Given the description of an element on the screen output the (x, y) to click on. 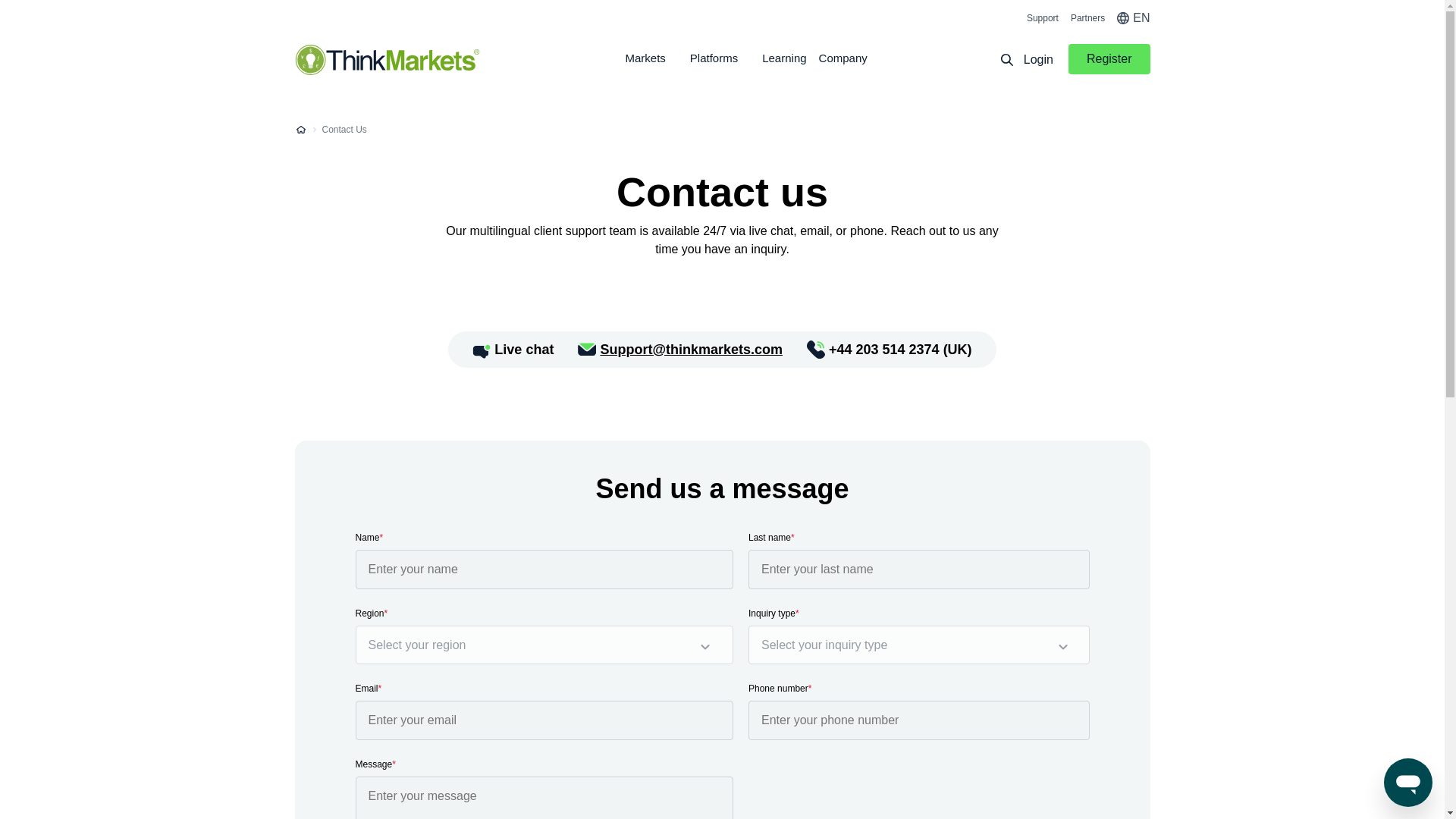
Support (1042, 18)
Partners (1087, 18)
